Given the description of an element on the screen output the (x, y) to click on. 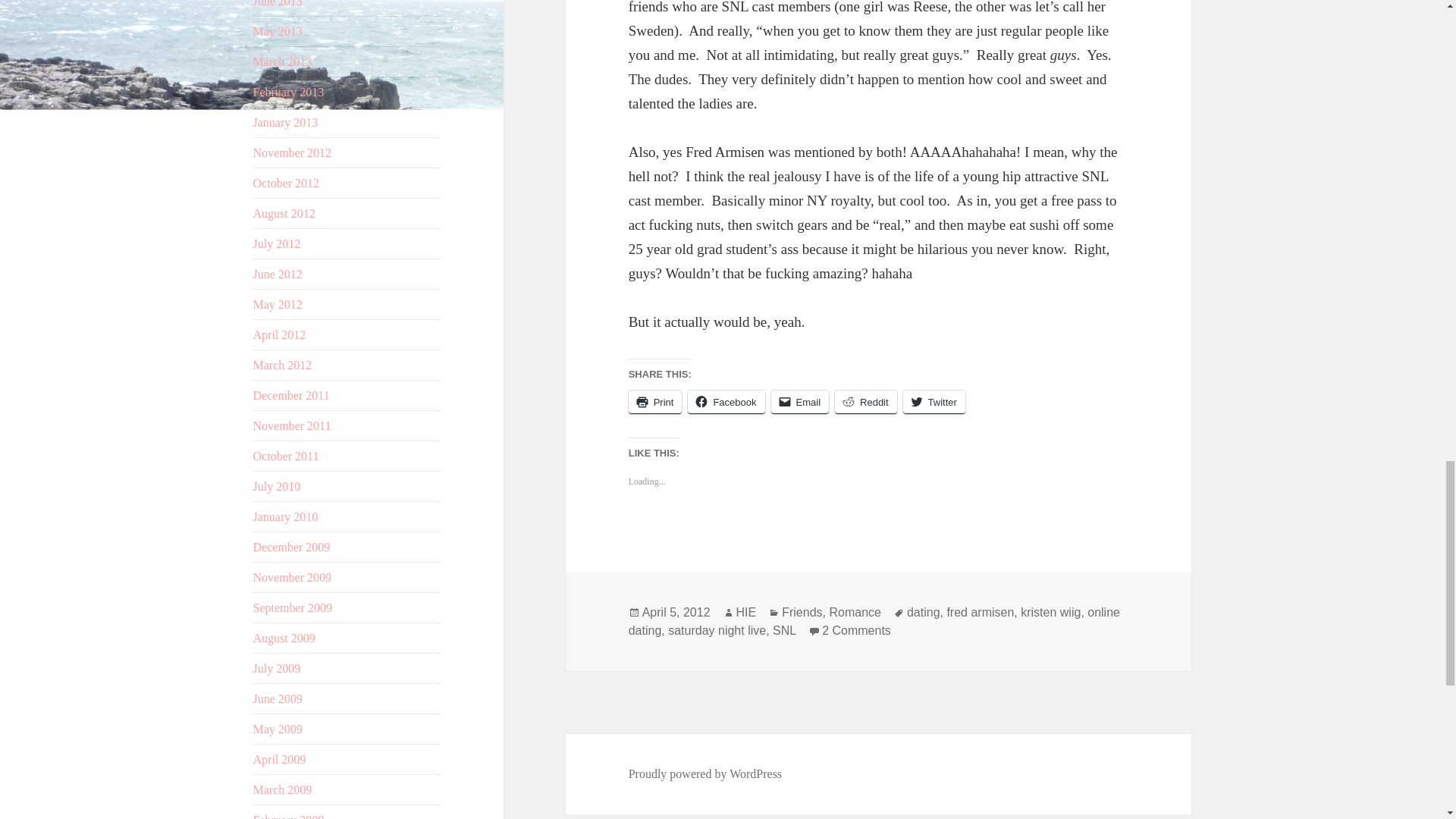
November 2012 (292, 152)
January 2013 (285, 122)
June 2013 (277, 3)
Click to share on Facebook (725, 402)
April 2012 (279, 334)
October 2012 (286, 182)
May 2013 (277, 31)
Click to print (655, 402)
Click to share on Reddit (865, 402)
Click to share on Twitter (933, 402)
June 2012 (277, 273)
August 2012 (284, 213)
July 2012 (277, 243)
May 2012 (277, 304)
Click to email a link to a friend (800, 402)
